Given the description of an element on the screen output the (x, y) to click on. 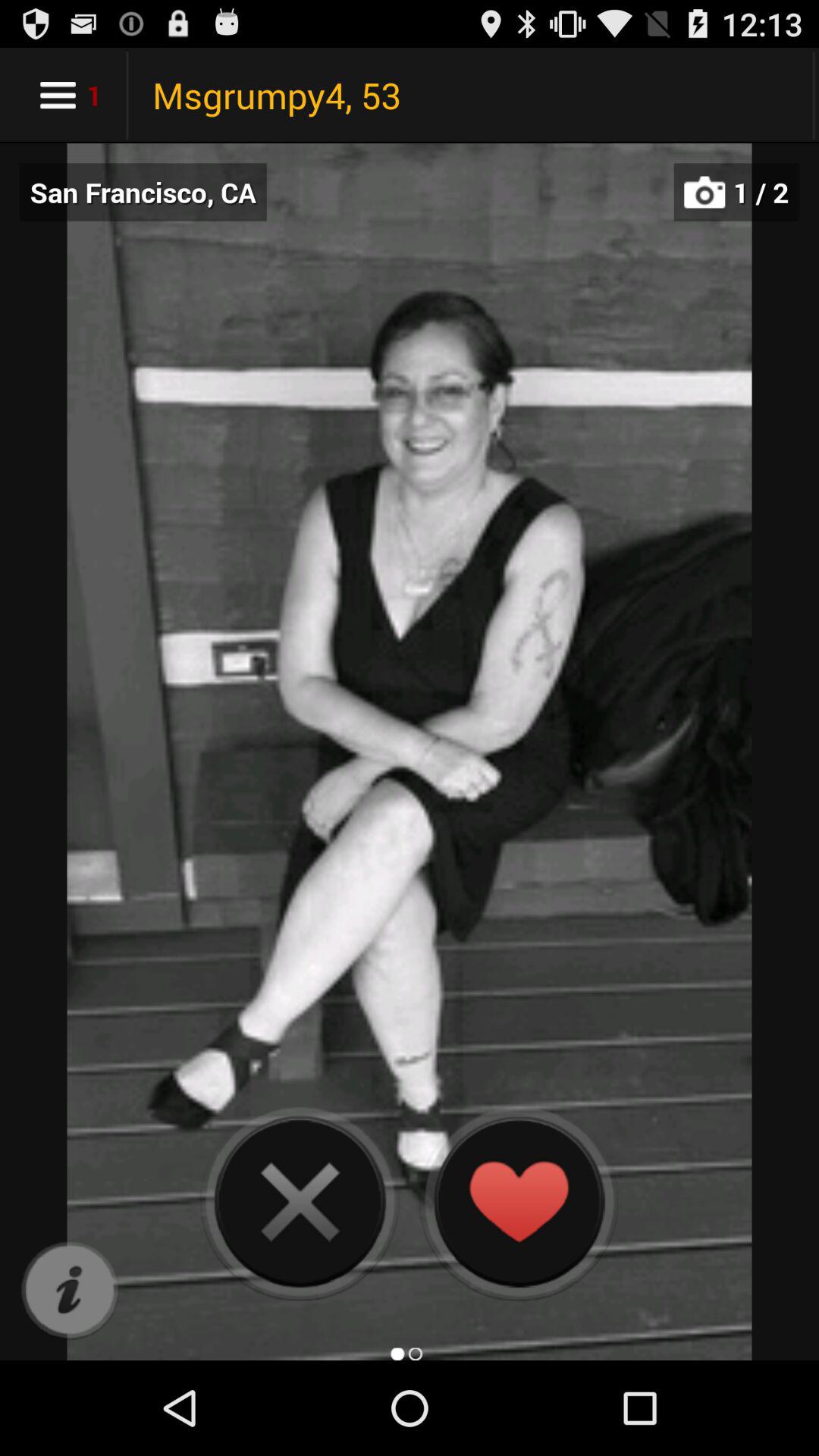
information (69, 1290)
